Given the description of an element on the screen output the (x, y) to click on. 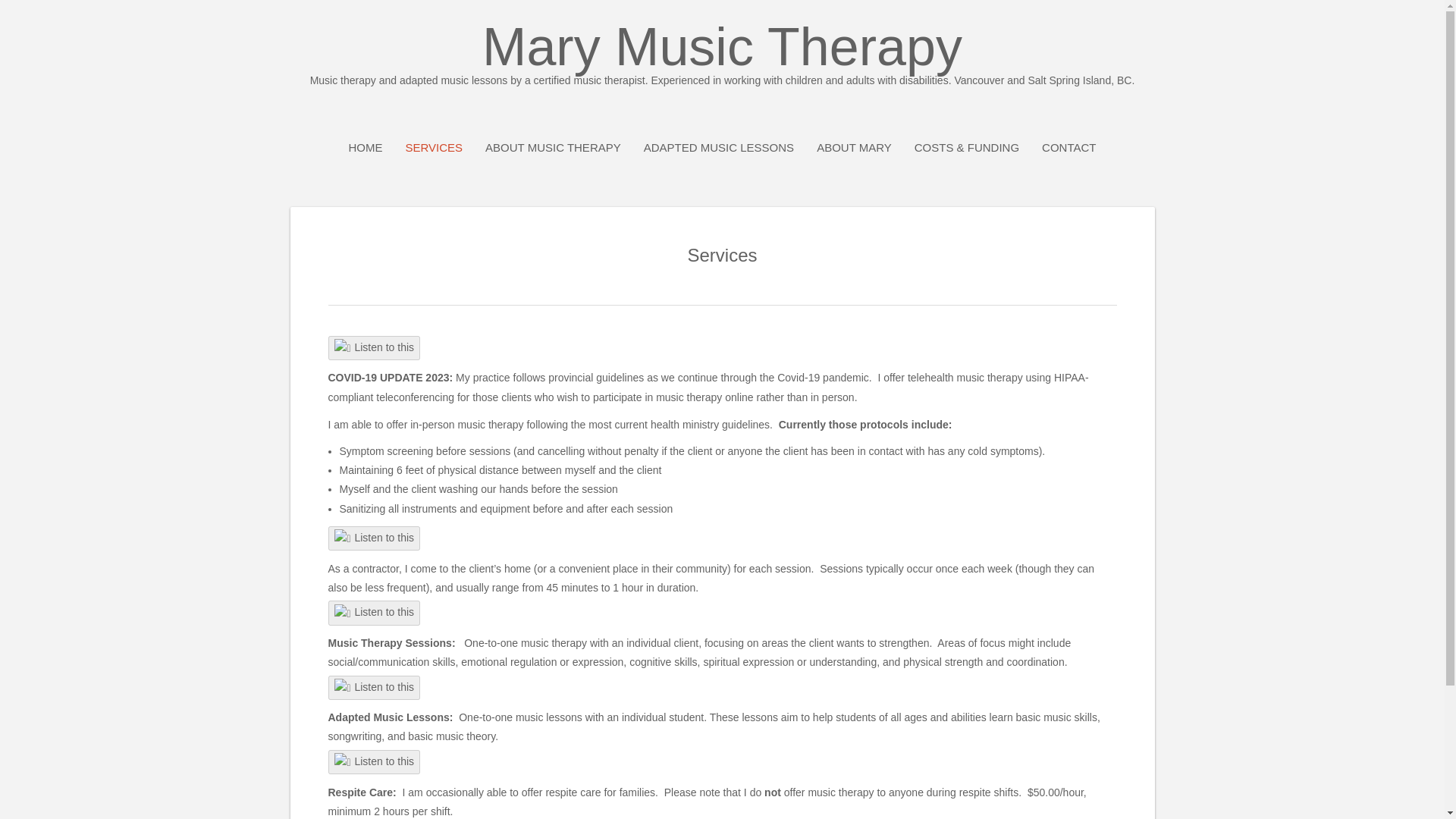
CONTACT (1069, 147)
Listen to this (373, 687)
Listen to this (373, 538)
ABOUT MARY (853, 147)
HOME (364, 147)
SERVICES (433, 147)
Listen to this (373, 762)
Listen to this (373, 348)
Mary Music Therapy (721, 53)
